Given the description of an element on the screen output the (x, y) to click on. 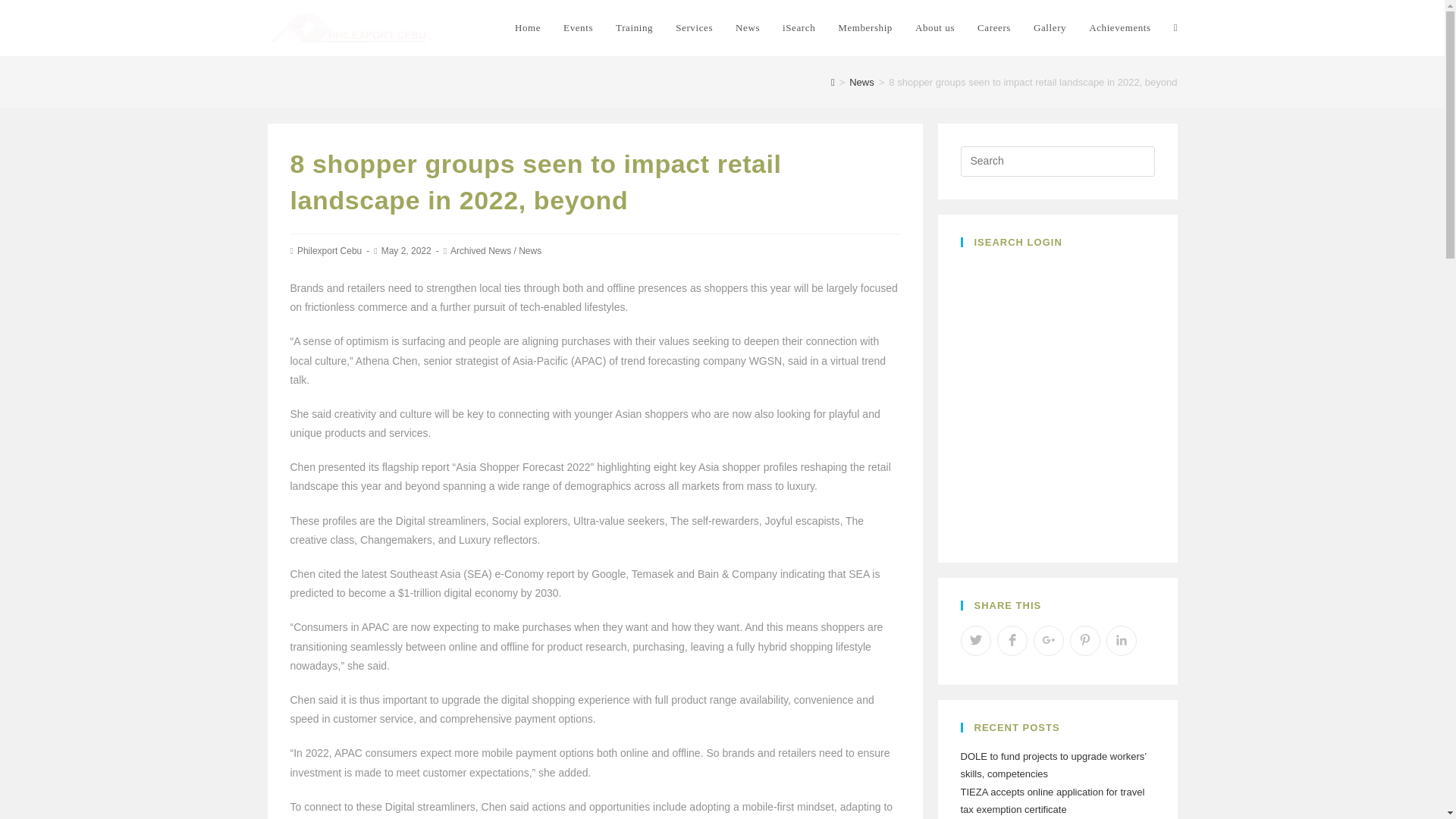
Training (633, 28)
Services (693, 28)
Share on Pinterest (1083, 640)
Share on LinkedIn (1120, 640)
Posts by Philexport Cebu (329, 250)
Share on Facebook (1010, 640)
Events (577, 28)
Share on Twitter (974, 640)
iSearch (799, 28)
